Given the description of an element on the screen output the (x, y) to click on. 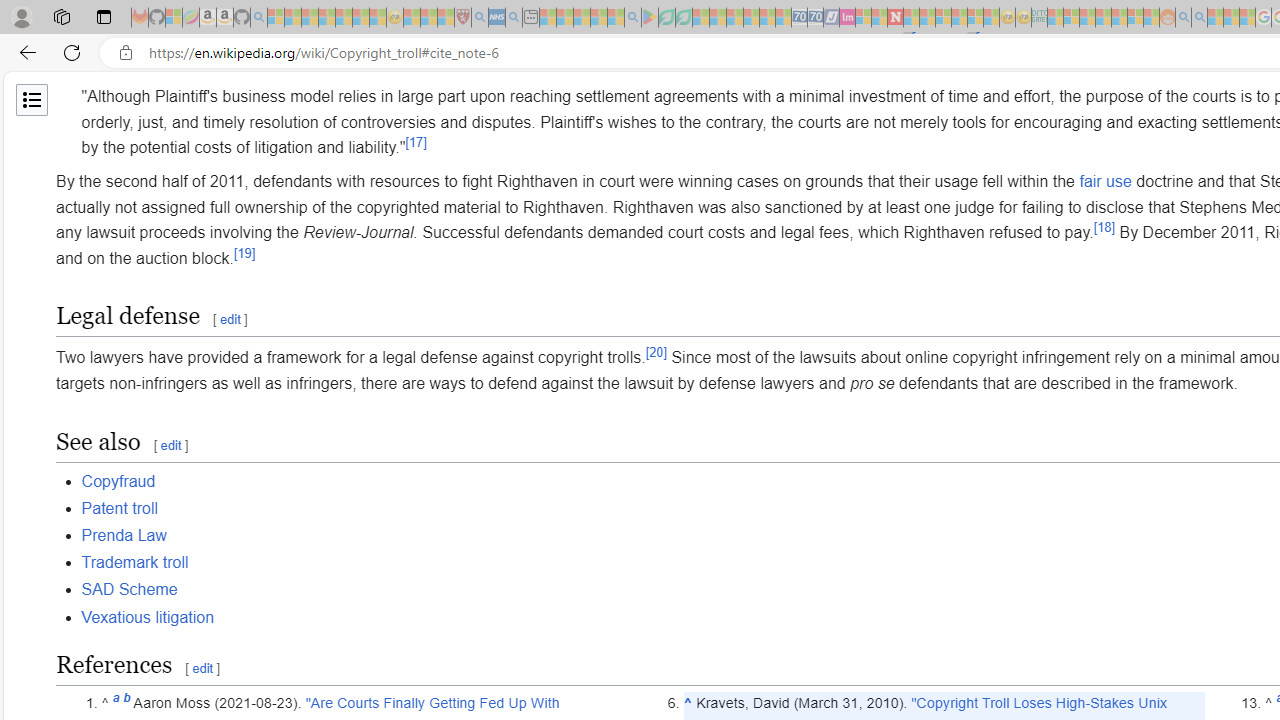
Recipes - MSN - Sleeping (411, 17)
Jump up (687, 703)
b (126, 703)
Local - MSN - Sleeping (445, 17)
list of asthma inhalers uk - Search - Sleeping (479, 17)
